Given the description of an element on the screen output the (x, y) to click on. 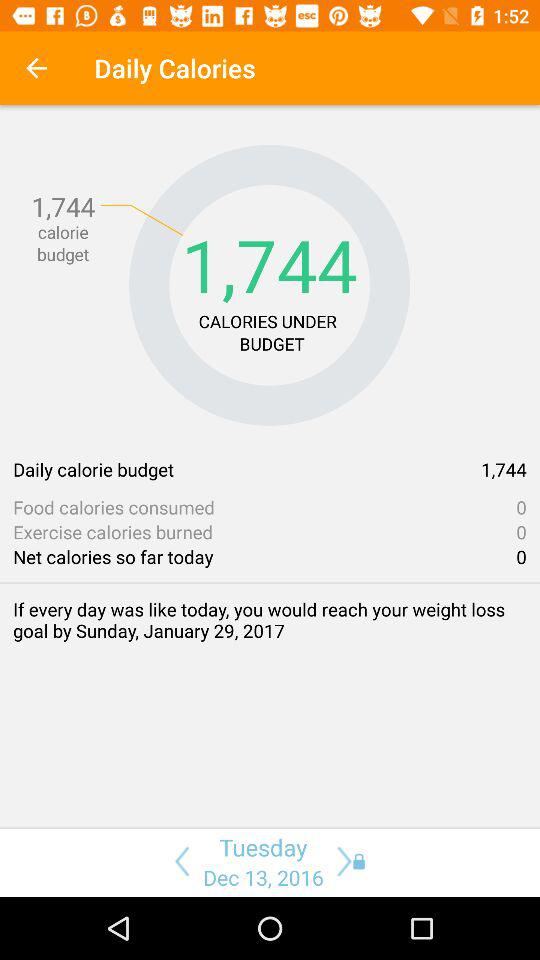
this button backspace (178, 861)
